Given the description of an element on the screen output the (x, y) to click on. 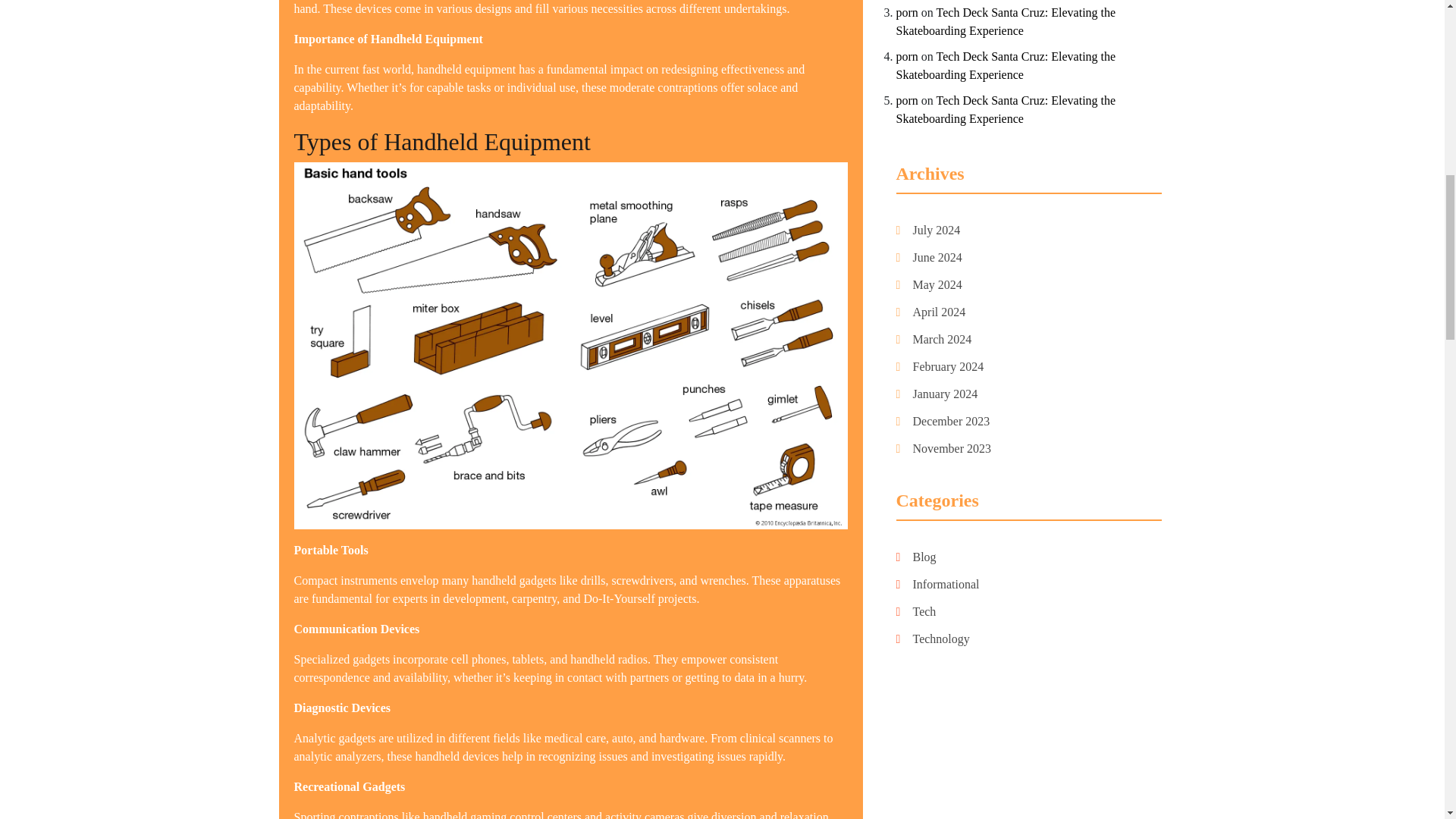
June 2024 (937, 257)
December 2023 (951, 420)
May 2024 (937, 284)
porn (907, 100)
April 2024 (939, 311)
Tech Deck Santa Cruz: Elevating the Skateboarding Experience (1006, 65)
November 2023 (951, 448)
porn (907, 11)
porn (907, 56)
Tech Deck Santa Cruz: Elevating the Skateboarding Experience (1006, 109)
January 2024 (945, 393)
Blog (924, 556)
February 2024 (948, 366)
Informational (945, 583)
Tech Deck Santa Cruz: Elevating the Skateboarding Experience (1006, 20)
